Given the description of an element on the screen output the (x, y) to click on. 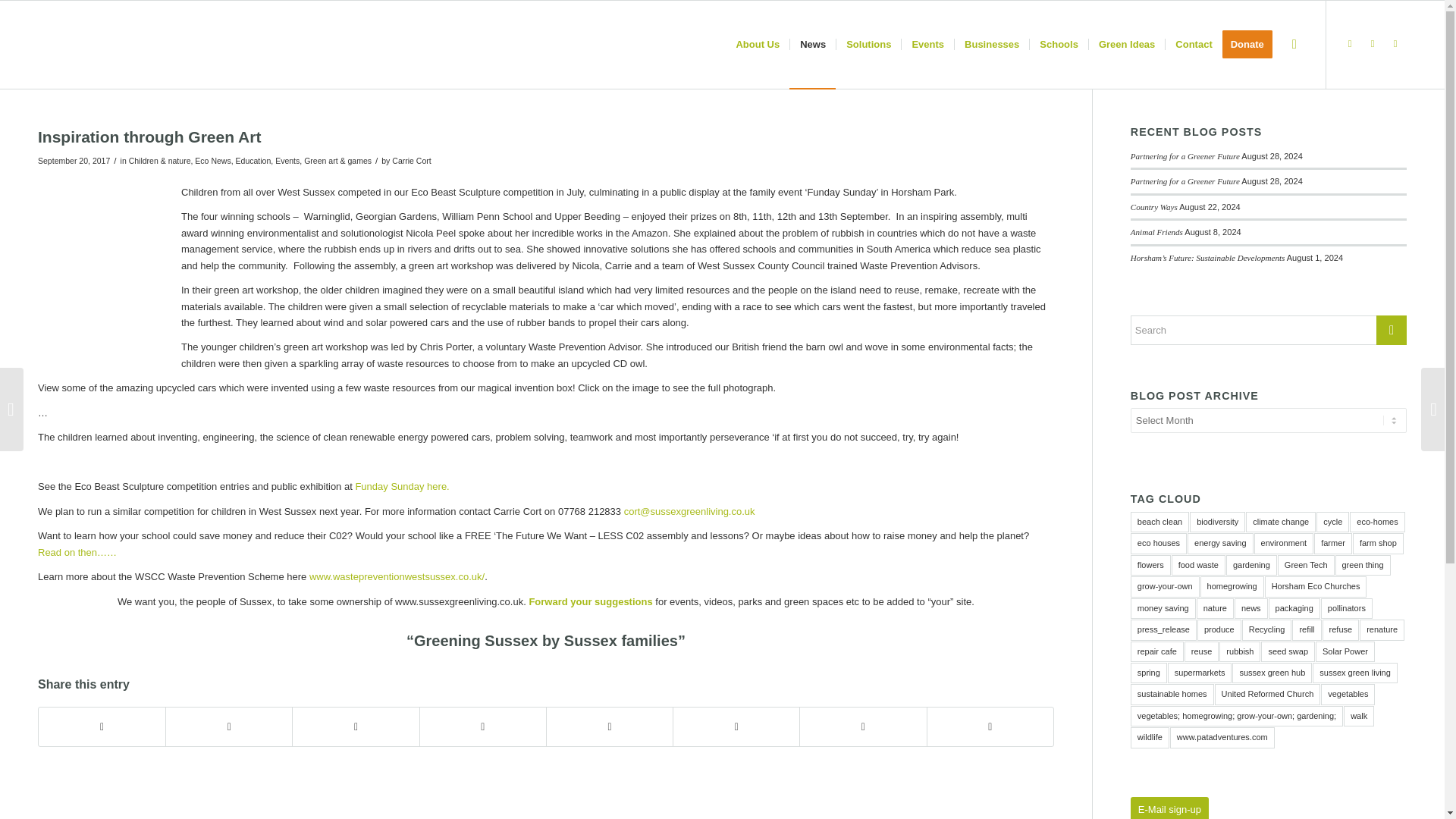
Posts by Carrie Cort (410, 160)
Eco Beast Sculptures (401, 486)
Facebook (1349, 43)
The Future We Want - LESS C02 (76, 552)
Youtube (1395, 43)
Instagram (1372, 43)
Contact Us (590, 601)
